Given the description of an element on the screen output the (x, y) to click on. 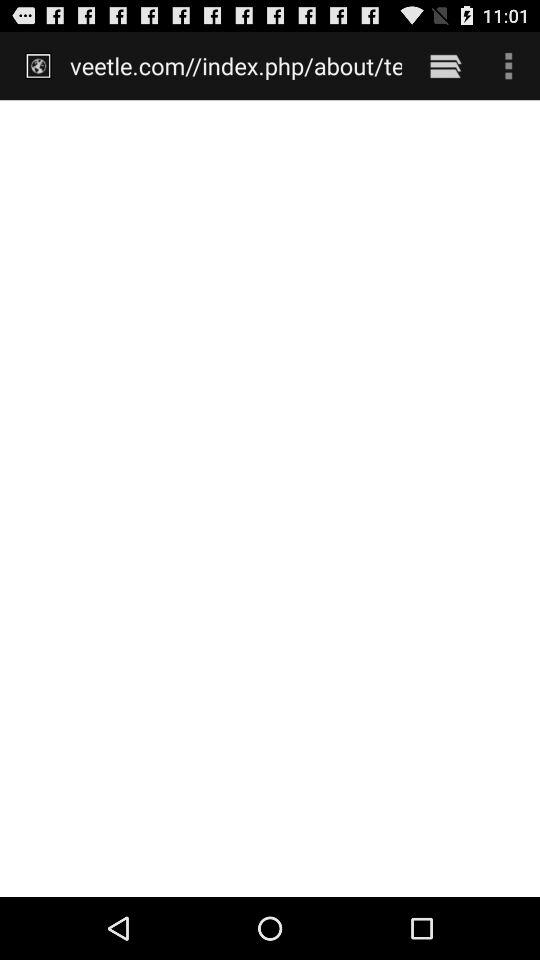
launch the item to the right of the veetle com index (444, 65)
